Given the description of an element on the screen output the (x, y) to click on. 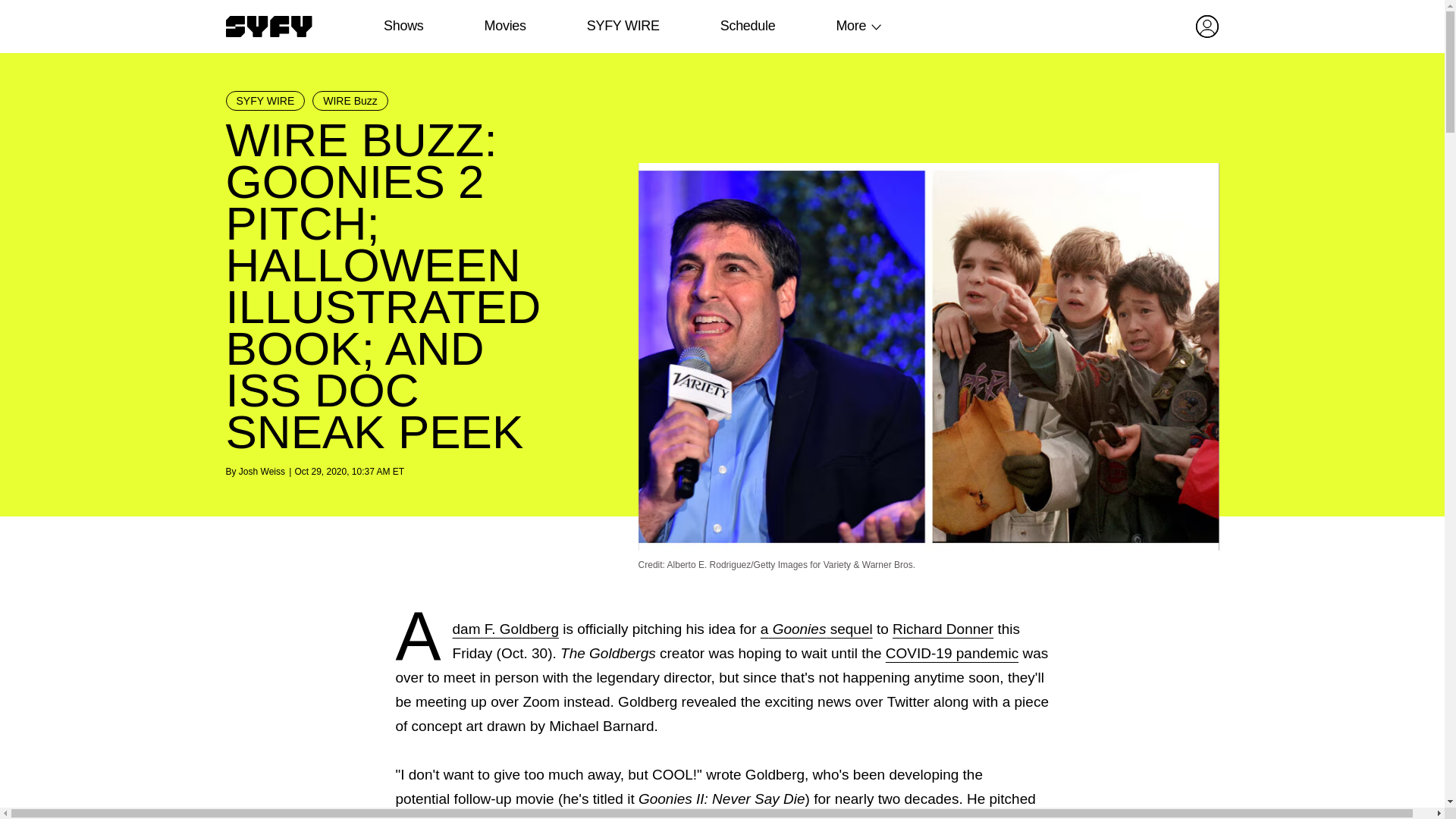
Richard Donner (942, 628)
Schedule (746, 26)
a Goonies sequel (816, 628)
Movies (504, 26)
SYFY WIRE (265, 100)
COVID-19 pandemic (951, 652)
SYFY WIRE (622, 26)
Shows (403, 26)
More (850, 26)
Josh Weiss (261, 471)
WIRE Buzz (350, 100)
Adam F. Goldberg (505, 628)
